Given the description of an element on the screen output the (x, y) to click on. 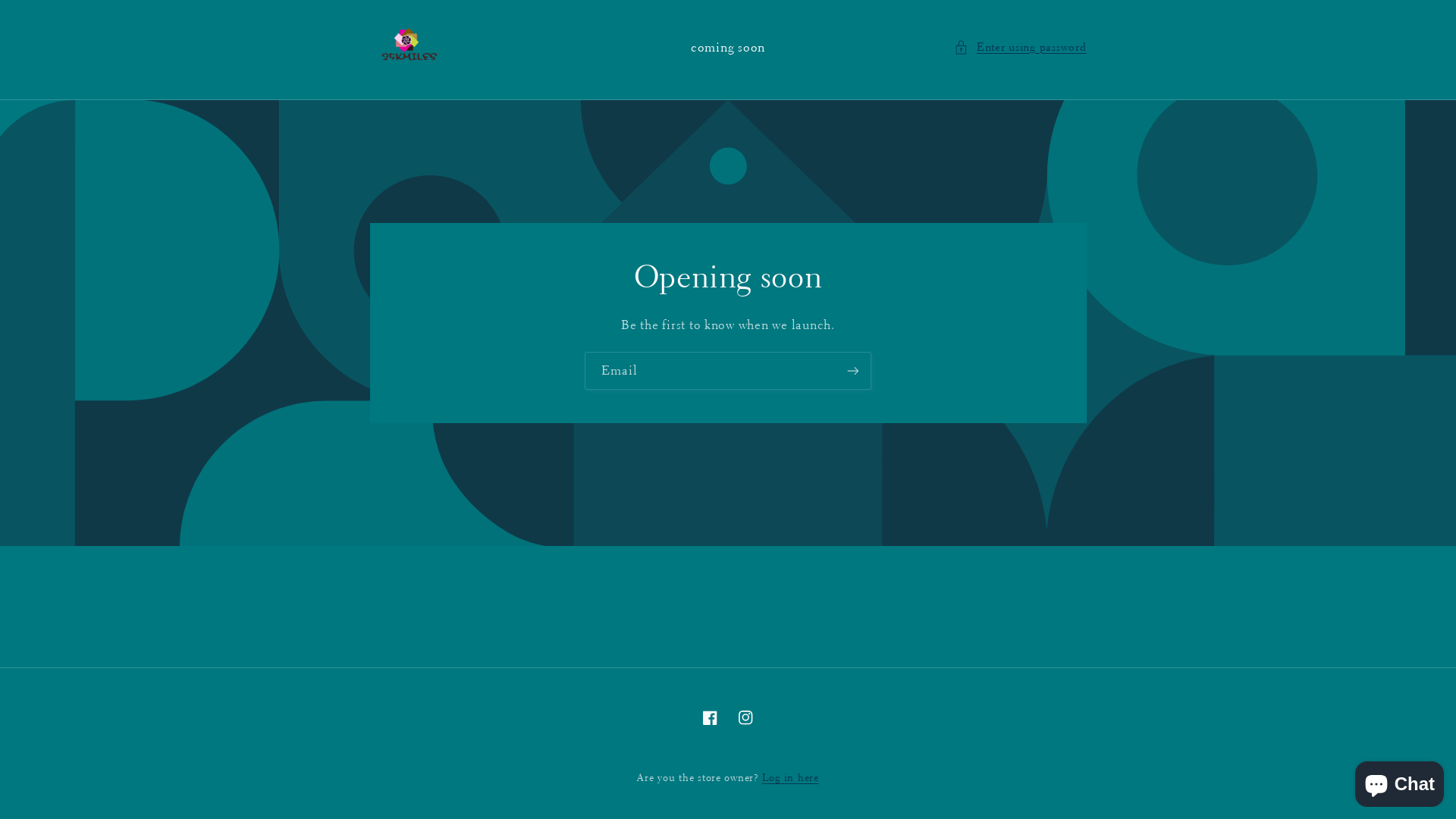
Shopify online store chat Element type: hover (1399, 780)
Log in here Element type: text (790, 776)
Instagram Element type: text (745, 716)
Facebook Element type: text (710, 716)
